Given the description of an element on the screen output the (x, y) to click on. 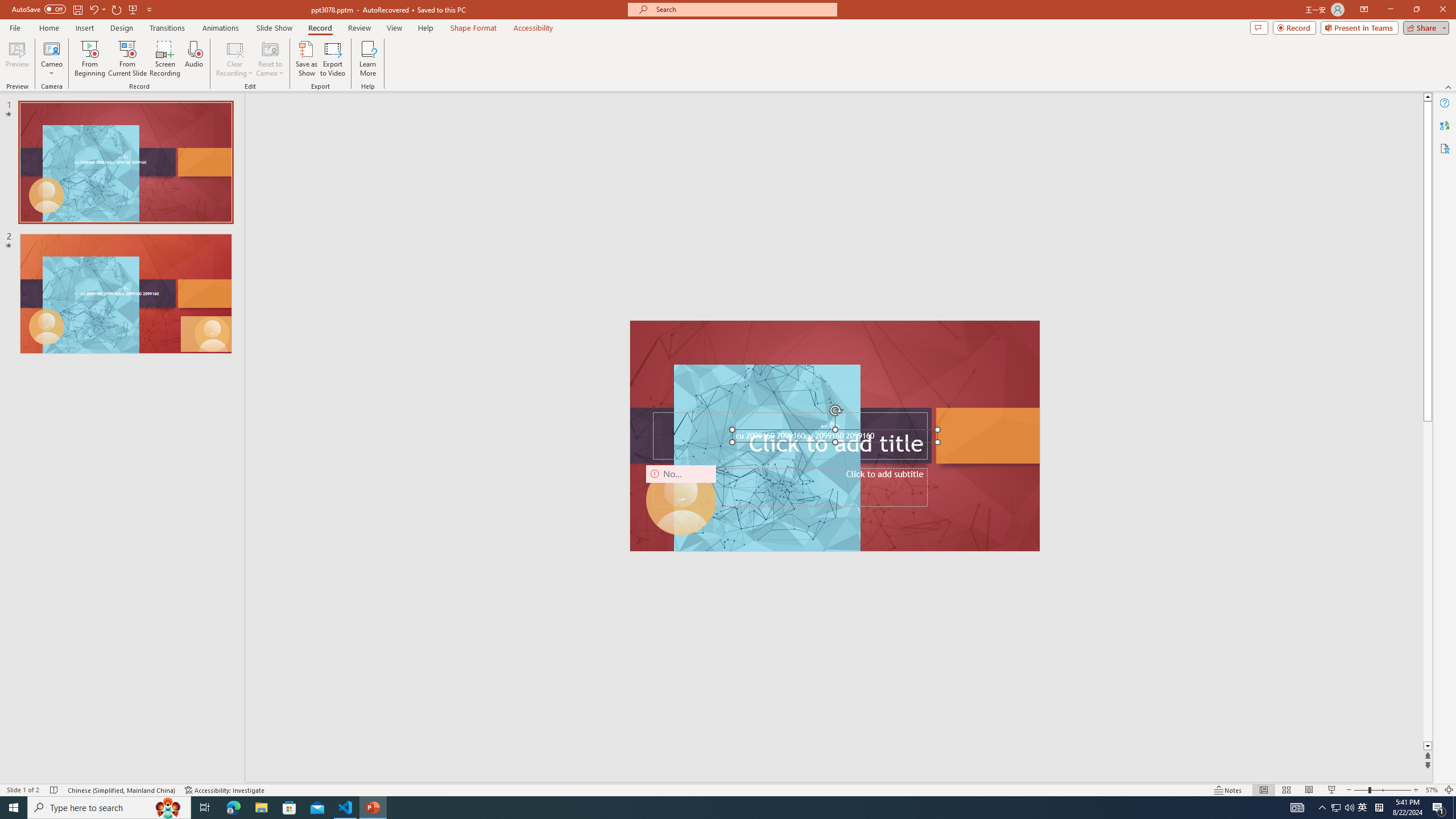
Zoom 57% (1431, 790)
TextBox 7 (830, 426)
